Given the description of an element on the screen output the (x, y) to click on. 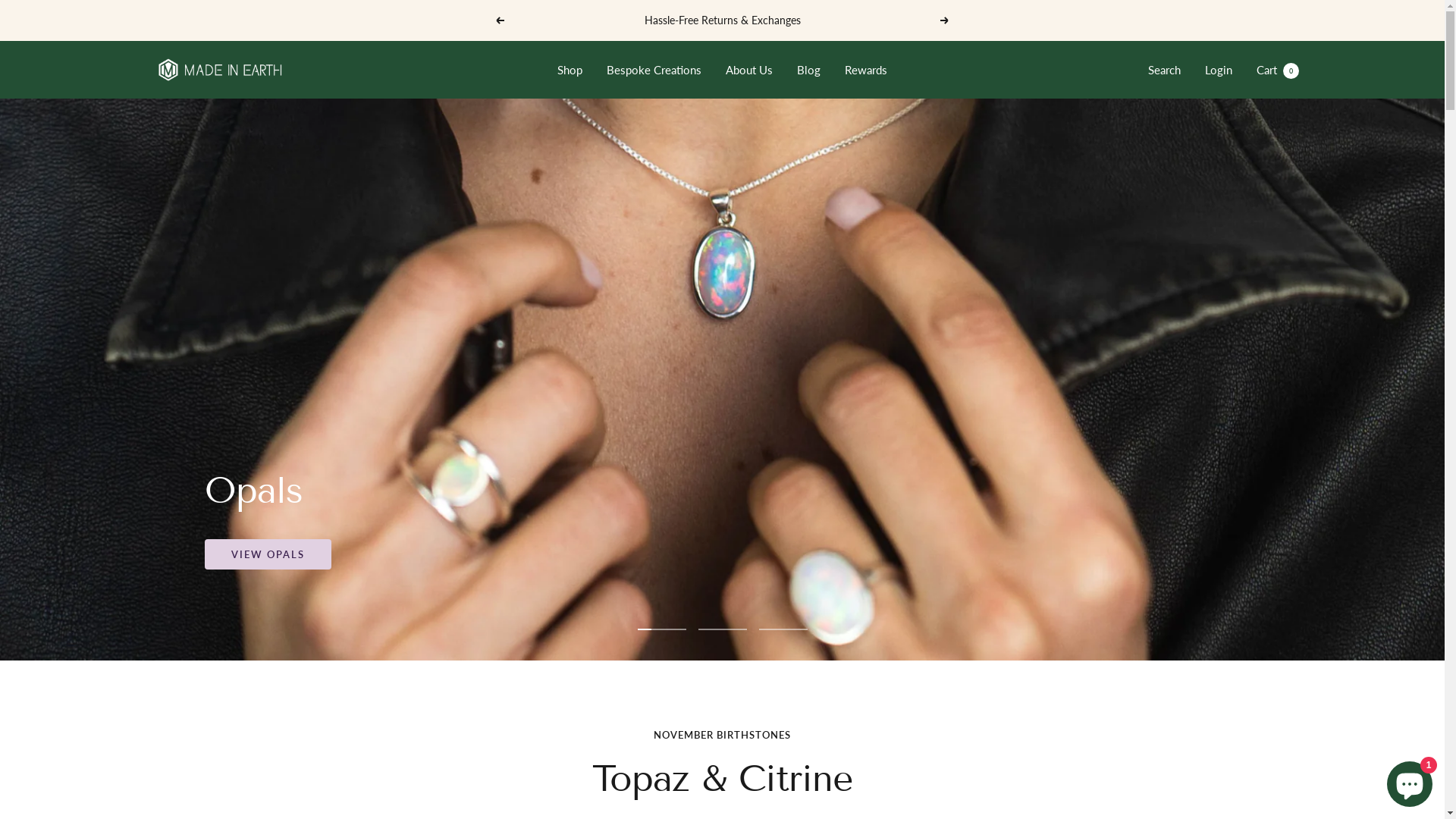
Shopify online store chat Element type: hover (1409, 780)
Go to slide 3 Element type: text (782, 629)
Bespoke Creations Element type: text (653, 69)
Previous Element type: text (499, 20)
Rewards Element type: text (865, 69)
Next Element type: text (944, 20)
Made in Earth Australia Element type: text (213, 69)
Go to slide 2 Element type: text (721, 629)
About Us Element type: text (748, 69)
SHOP NOW Element type: text (264, 430)
Search Element type: text (1164, 69)
Go to slide 1 Element type: text (661, 629)
Login Element type: text (1217, 69)
Blog Element type: text (808, 69)
Cart
0 Element type: text (1276, 69)
Shop Element type: text (569, 69)
